Given the description of an element on the screen output the (x, y) to click on. 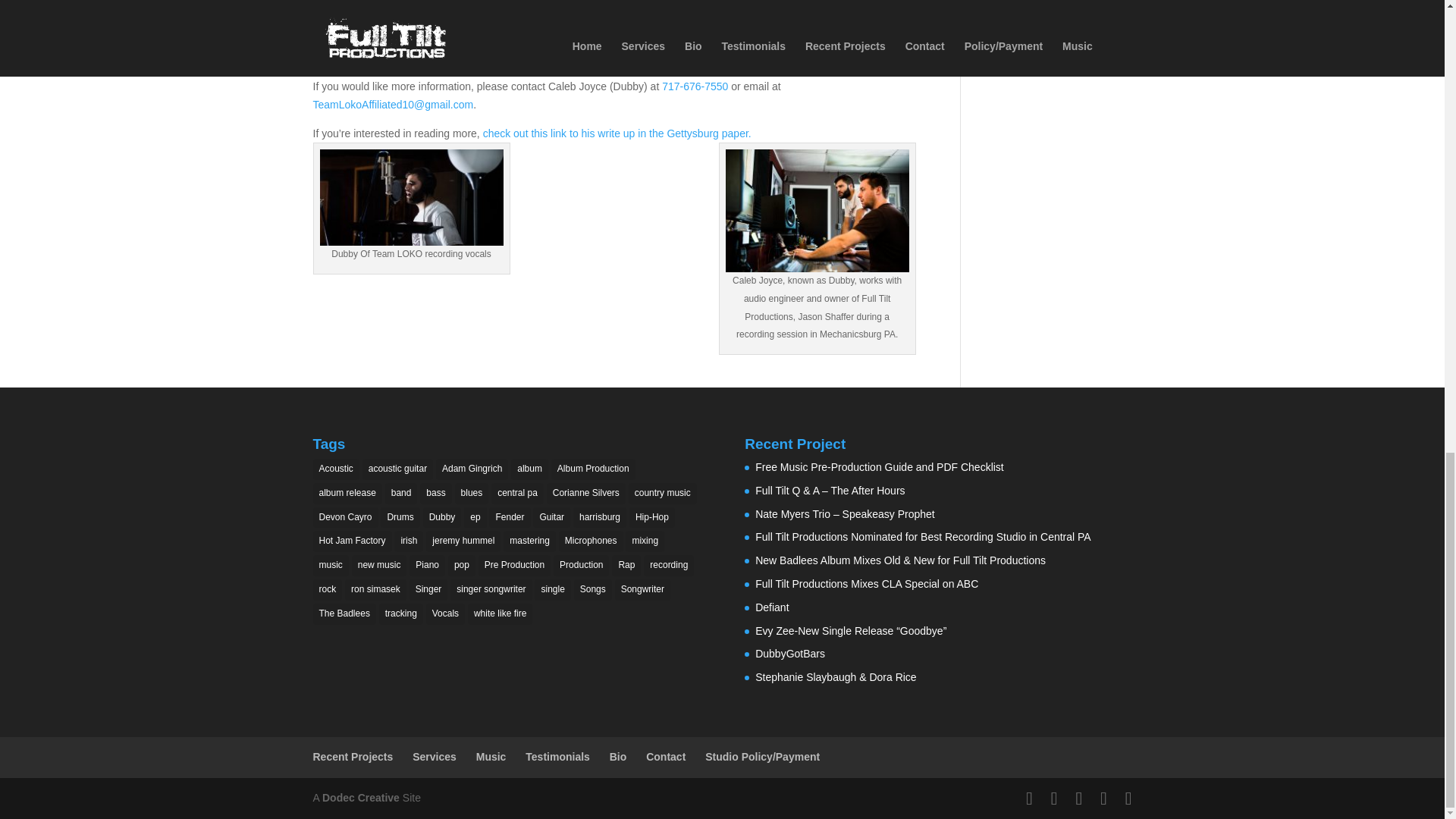
Team Loko Apparel (524, 39)
717-676-7550 (695, 86)
check out this link to his write up in the Gettysburg paper. (617, 133)
